Given the description of an element on the screen output the (x, y) to click on. 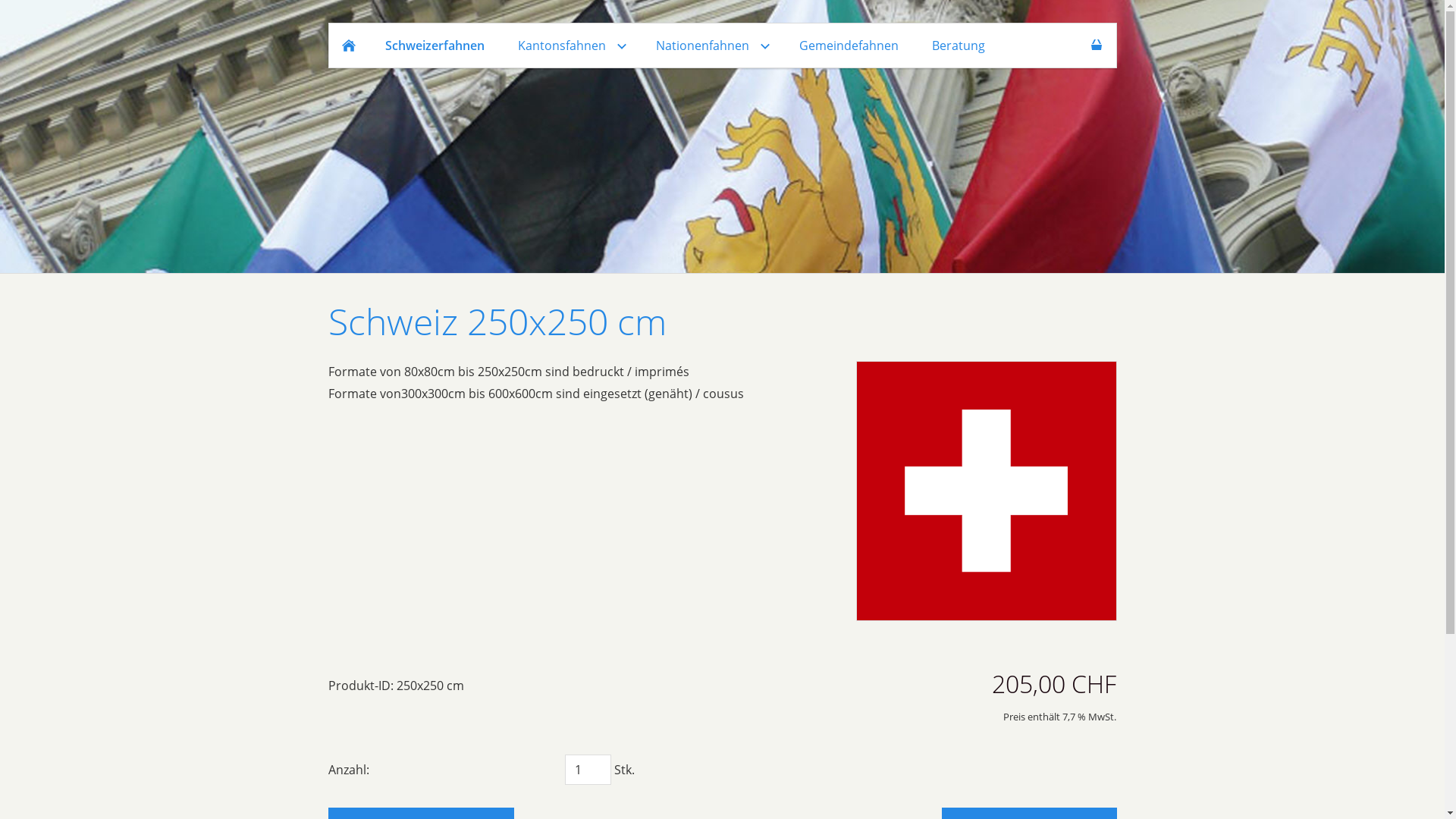
Gemeindefahnen Element type: text (848, 45)
Schweizerfahnen Element type: text (434, 45)
Kantonsfahnen Element type: text (569, 45)
Nationenfahnen Element type: text (709, 45)
Beratung Element type: text (957, 45)
